Given the description of an element on the screen output the (x, y) to click on. 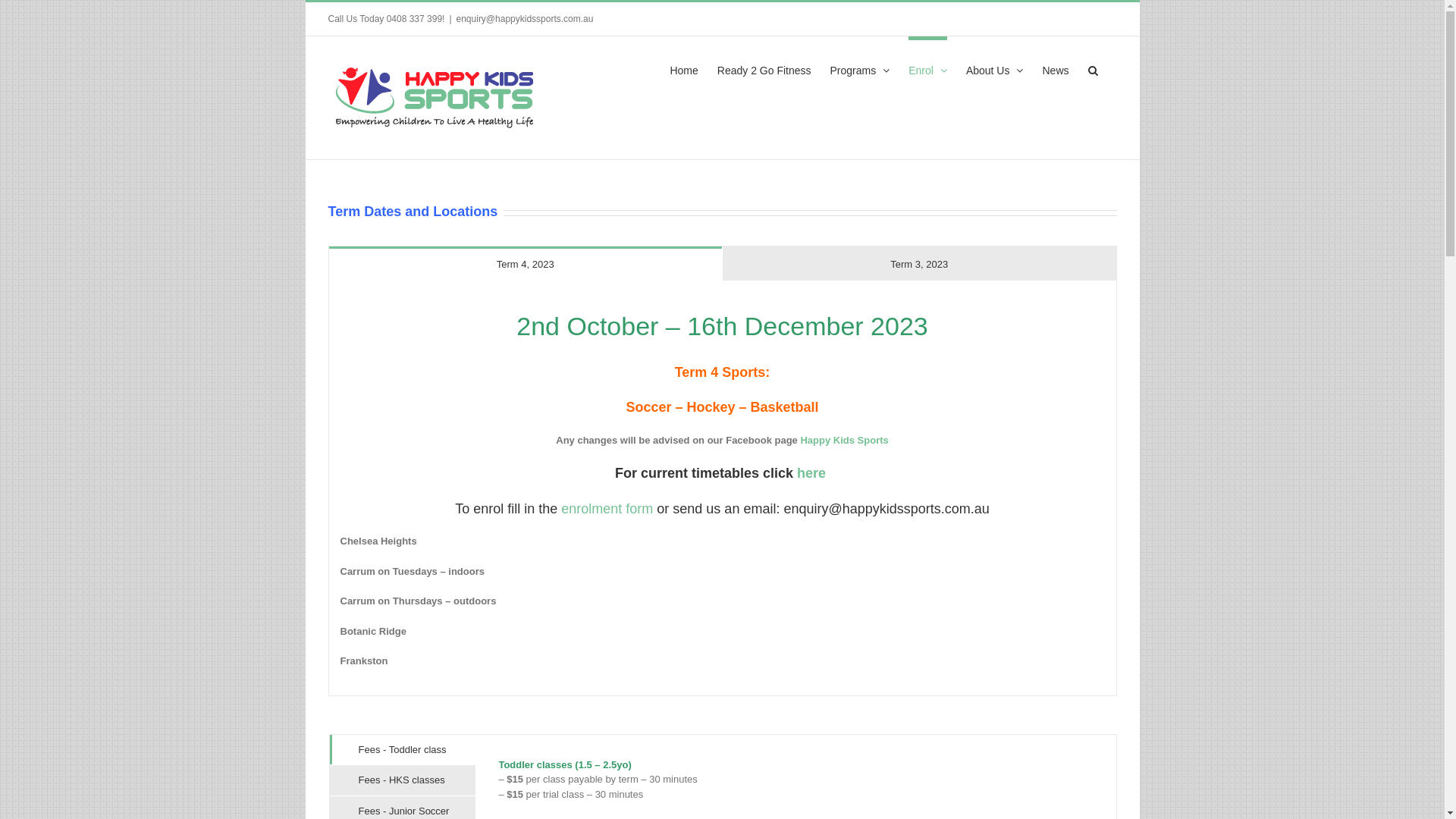
Fees - Toddler class Element type: text (402, 749)
enrolment form Element type: text (606, 508)
Home Element type: text (683, 68)
Term 4, 2023 Element type: text (525, 263)
Search Element type: hover (1092, 68)
Term 3, 2023 Element type: text (919, 263)
Programs Element type: text (860, 68)
enquiry@happykidssports.com.au Element type: text (524, 18)
here  Element type: text (813, 472)
About Us Element type: text (994, 68)
Fees - HKS classes Element type: text (402, 780)
Happy Kids Sports Element type: text (844, 439)
Enrol Element type: text (927, 68)
Ready 2 Go Fitness Element type: text (764, 68)
News Element type: text (1054, 68)
